Given the description of an element on the screen output the (x, y) to click on. 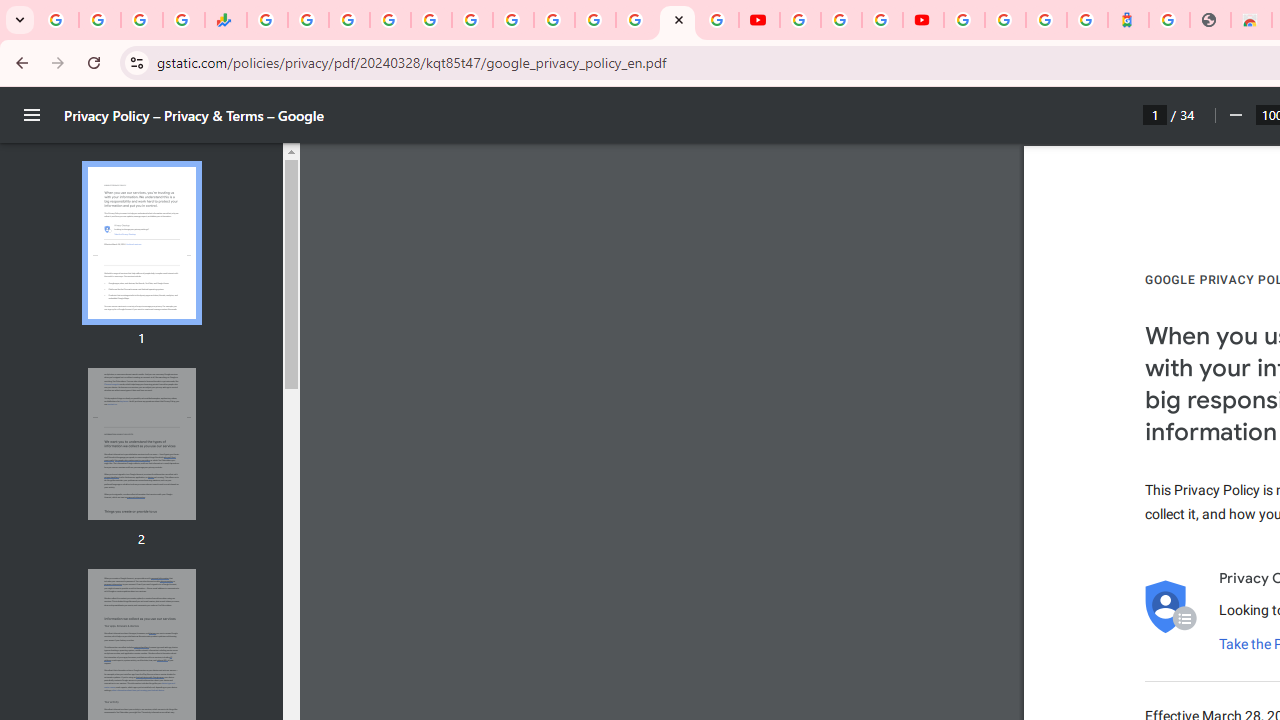
Thumbnail for page 2 (141, 444)
Sign in - Google Accounts (964, 20)
Menu (31, 115)
Android TV Policies and Guidelines - Transparency Center (512, 20)
Atour Hotel - Google hotels (1128, 20)
Sign in - Google Accounts (389, 20)
Google Workspace Admin Community (58, 20)
